Given the description of an element on the screen output the (x, y) to click on. 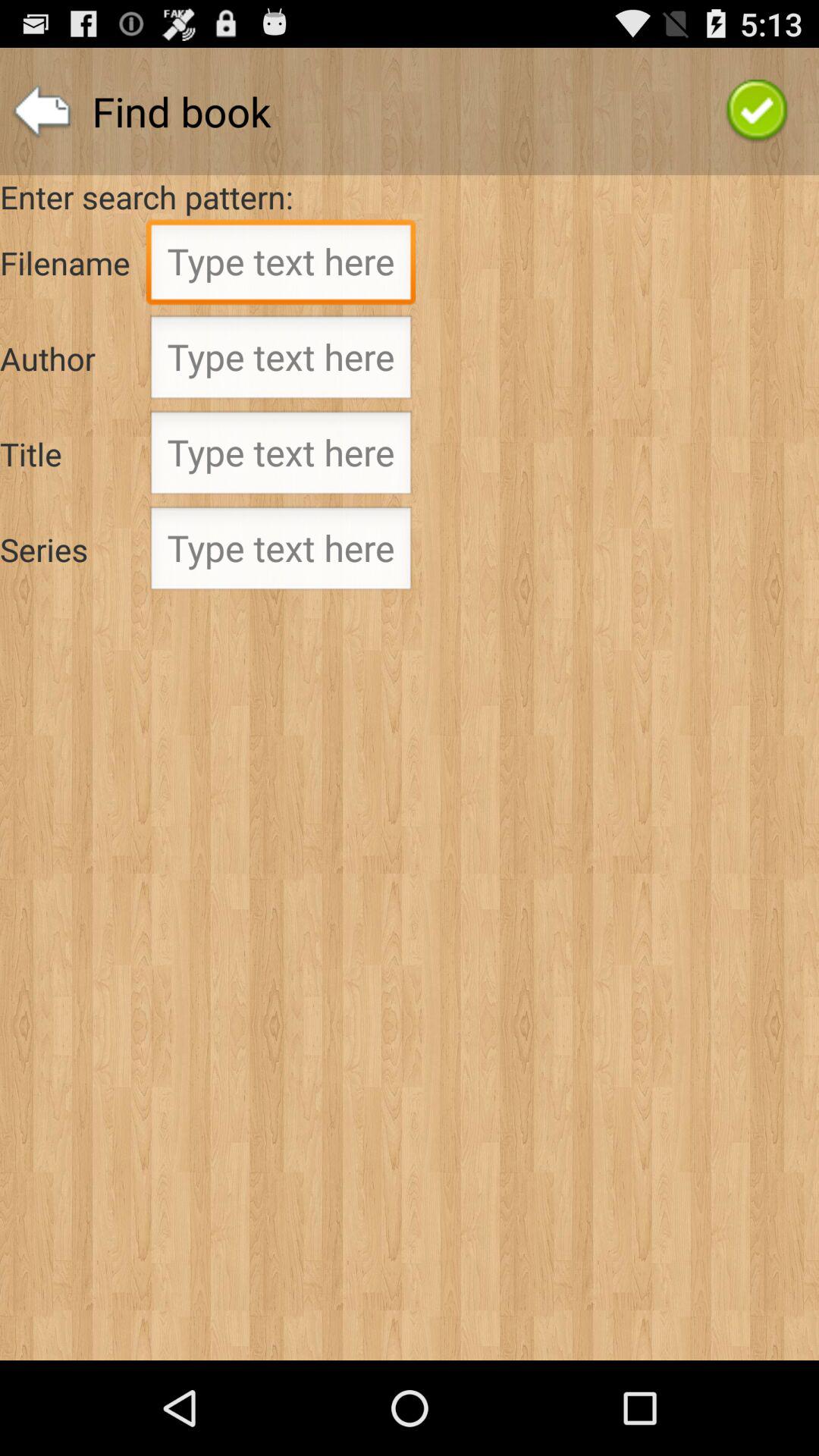
series text entry field (280, 552)
